Given the description of an element on the screen output the (x, y) to click on. 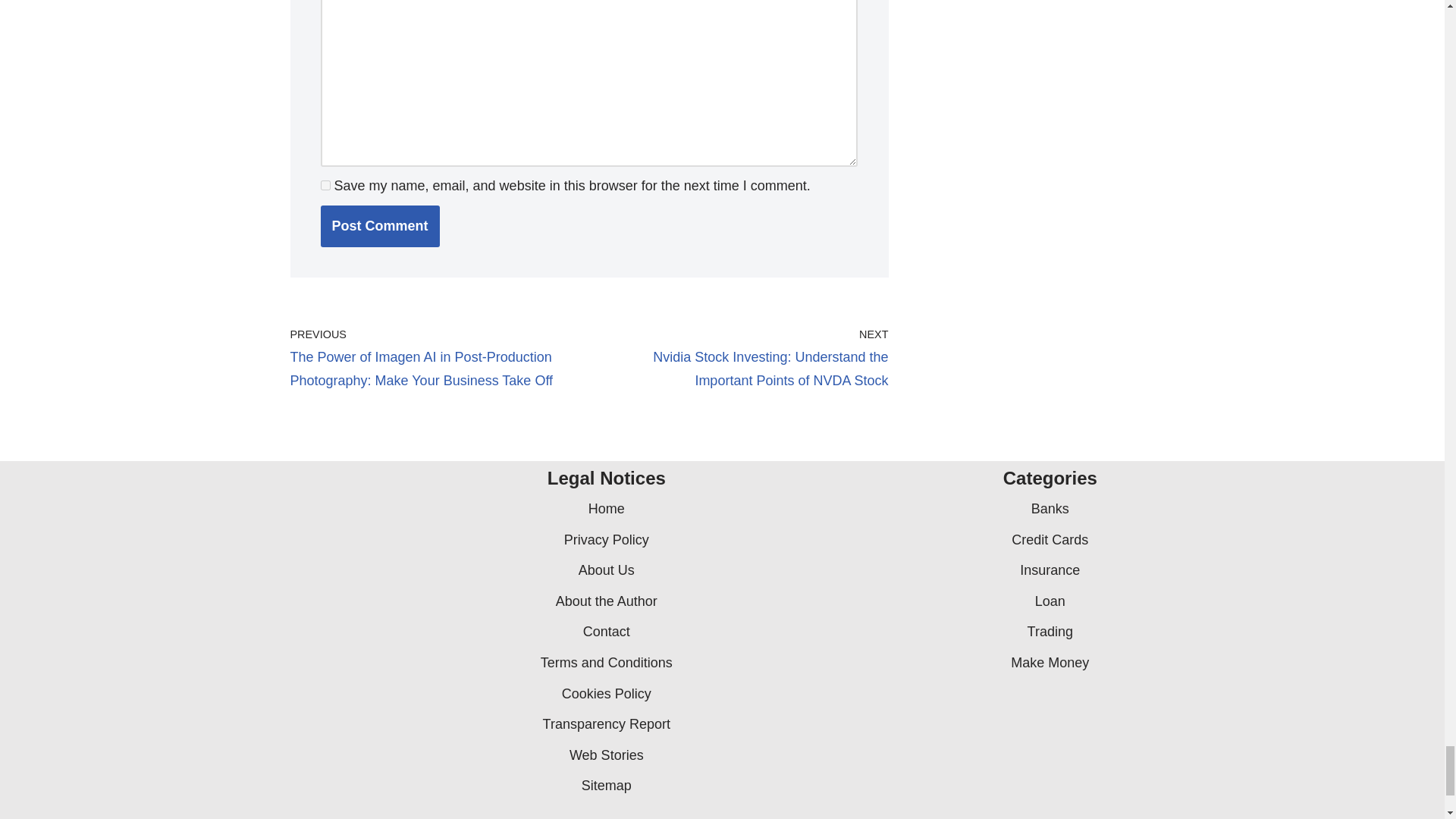
Post Comment (379, 226)
Post Comment (379, 226)
yes (325, 185)
